Given the description of an element on the screen output the (x, y) to click on. 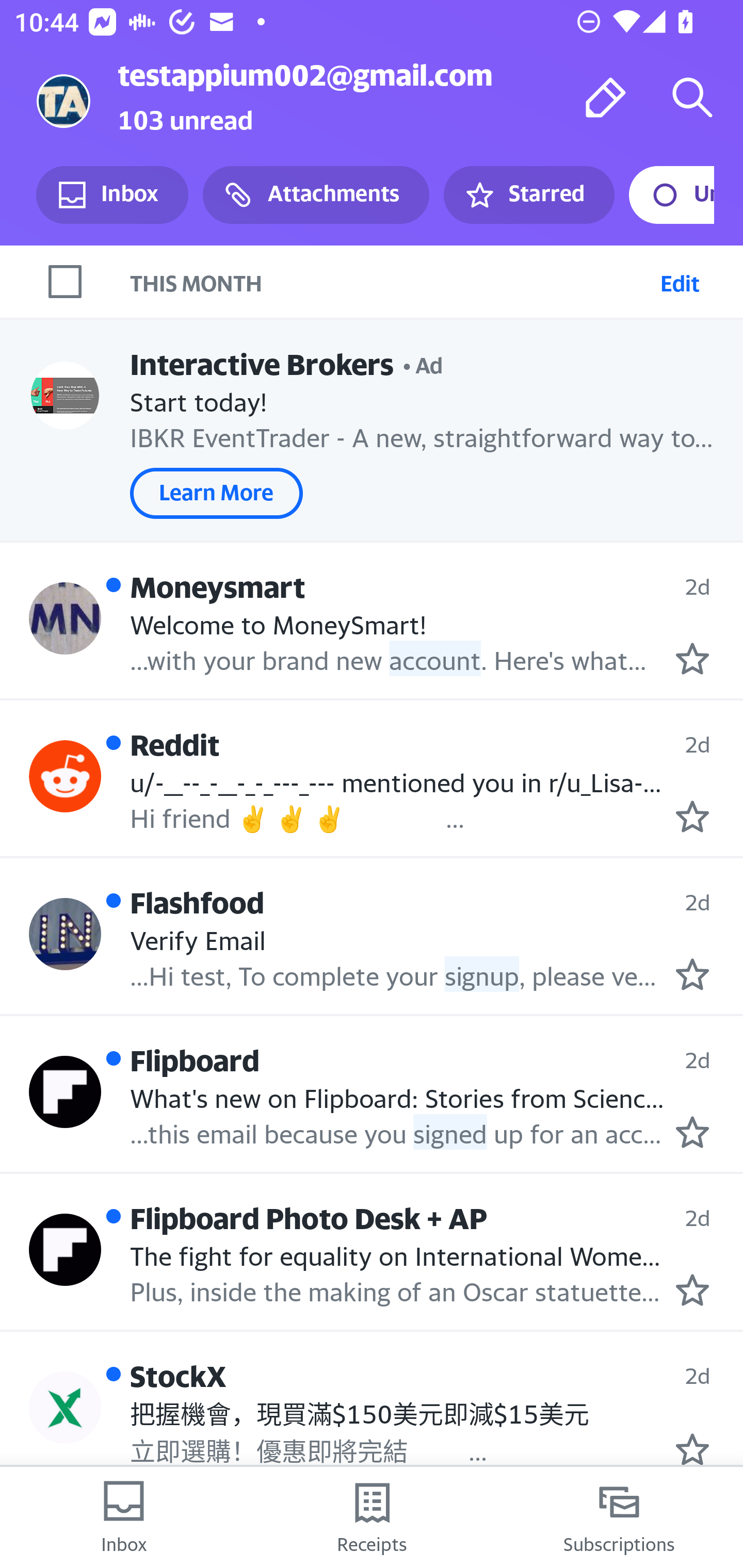
Compose (605, 97)
Search mail (692, 97)
Inbox (111, 195)
Attachments (315, 195)
Starred (528, 195)
THIS MONTH (391, 281)
Edit Select emails (679, 281)
Profile
Moneysmart (64, 617)
Mark as starred. (692, 659)
Profile
Reddit (64, 776)
Mark as starred. (692, 816)
Profile
Flashfood (64, 934)
Mark as starred. (692, 974)
Profile
Flipboard (64, 1091)
Mark as starred. (692, 1132)
Profile
Flipboard Photo Desk + AP (64, 1249)
Mark as starred. (692, 1289)
Profile
StockX (64, 1408)
Mark as starred. (692, 1449)
Inbox (123, 1517)
Receipts (371, 1517)
Subscriptions (619, 1517)
